Given the description of an element on the screen output the (x, y) to click on. 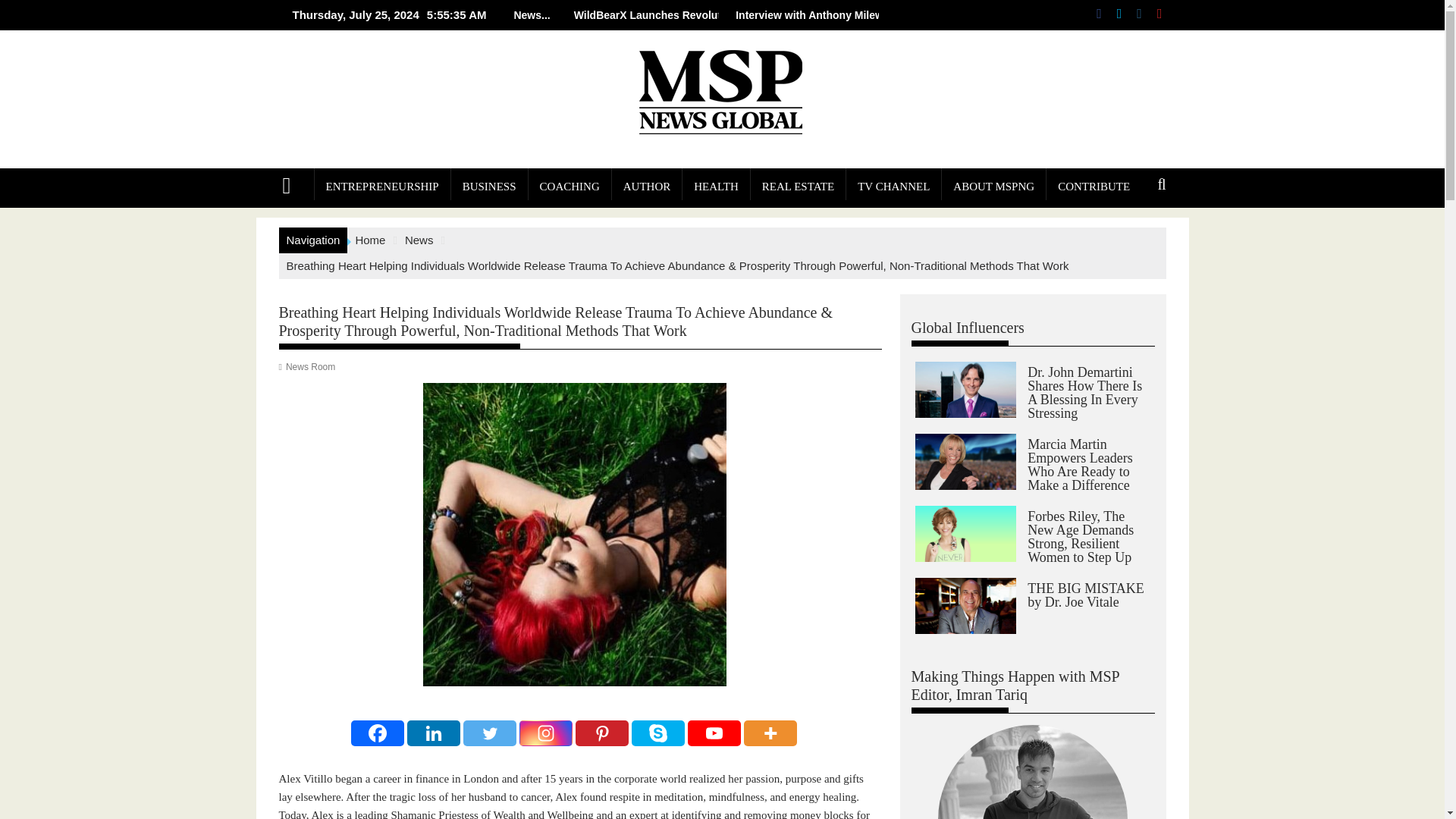
MSPNG Entrepreneurship (381, 186)
COACHING (569, 186)
ENTREPRENEURSHIP (381, 186)
AUTHOR (646, 186)
Home (370, 239)
ABOUT MSPNG (993, 186)
News (418, 239)
TV CHANNEL (892, 186)
MSP News Global (293, 183)
